Given the description of an element on the screen output the (x, y) to click on. 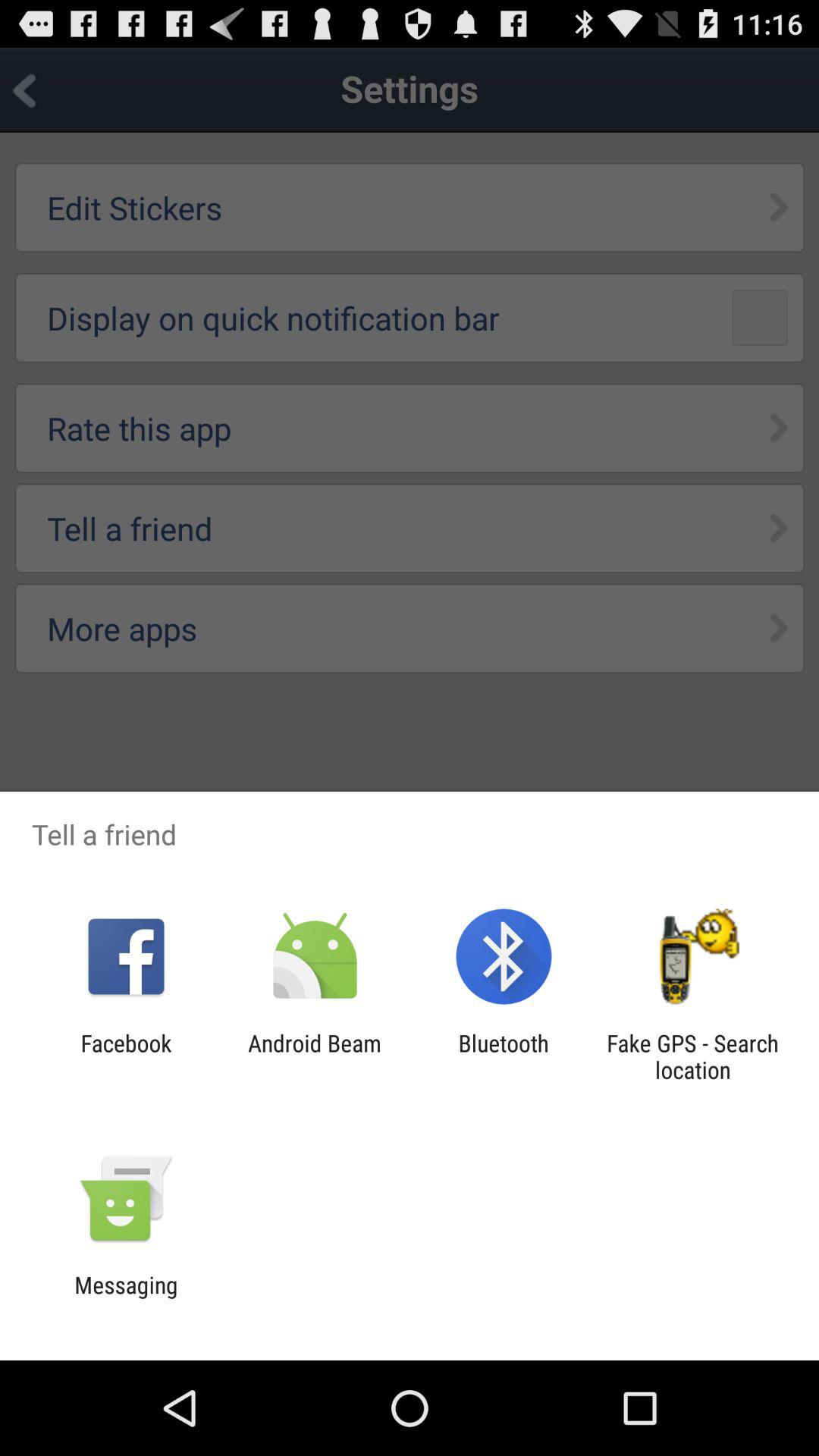
launch icon to the left of the bluetooth (314, 1056)
